Given the description of an element on the screen output the (x, y) to click on. 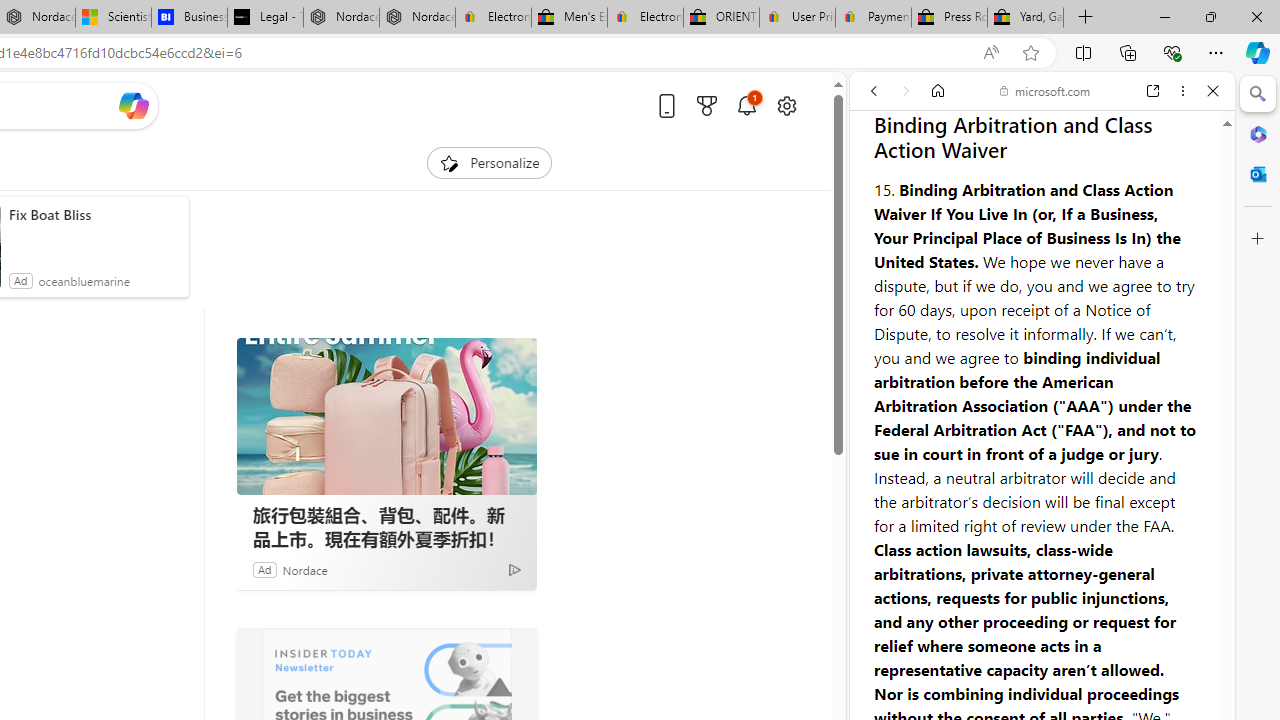
Press Room - eBay Inc. (948, 17)
